Given the description of an element on the screen output the (x, y) to click on. 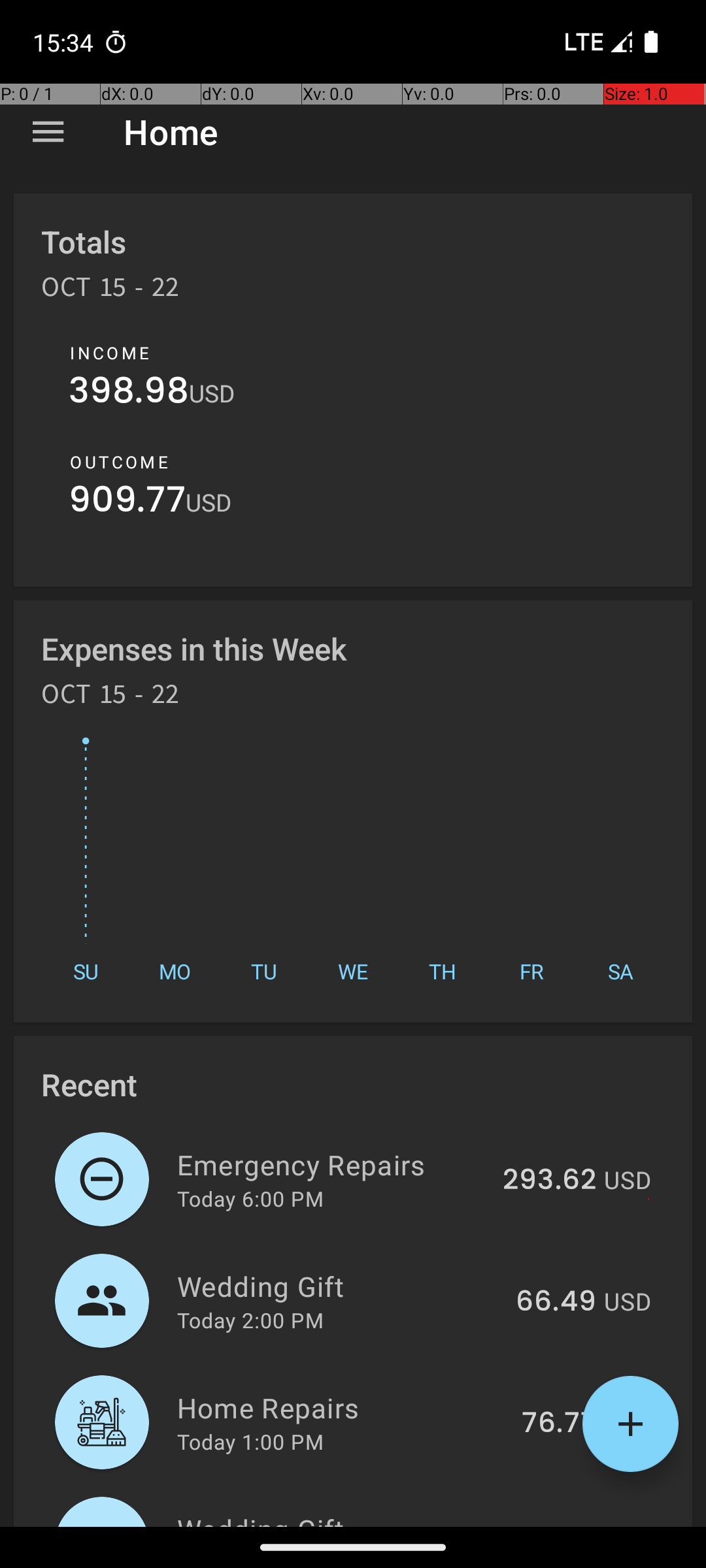
398.98 Element type: android.widget.TextView (128, 393)
909.77 Element type: android.widget.TextView (126, 502)
Emergency Repairs Element type: android.widget.TextView (332, 1164)
Today 6:00 PM Element type: android.widget.TextView (250, 1198)
293.62 Element type: android.widget.TextView (549, 1180)
Wedding Gift Element type: android.widget.TextView (338, 1285)
Today 2:00 PM Element type: android.widget.TextView (250, 1320)
66.49 Element type: android.widget.TextView (555, 1301)
Home Repairs Element type: android.widget.TextView (341, 1407)
Today 1:00 PM Element type: android.widget.TextView (250, 1441)
76.77 Element type: android.widget.TextView (558, 1423)
431.54 Element type: android.widget.TextView (550, 1524)
